Given the description of an element on the screen output the (x, y) to click on. 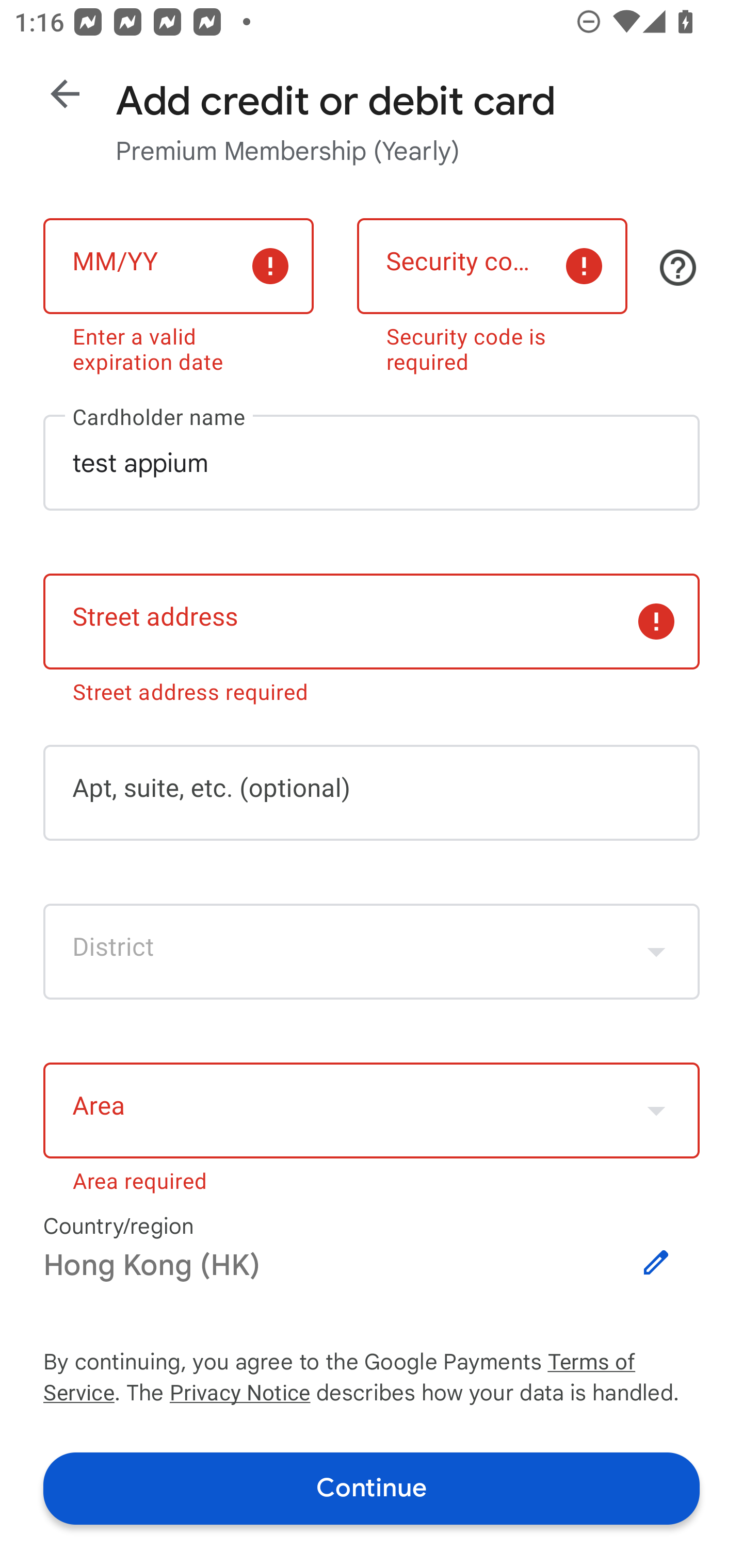
Back (64, 93)
Security code Error Security code is required (492, 292)
Expiration date, 2 digit month, 2 digit year (178, 265)
Security code (492, 265)
Security code help (677, 268)
test appium (371, 462)
Street address (371, 621)
Apt, suite, etc. (optional) (371, 792)
District (371, 951)
Show dropdown menu (655, 951)
Area (371, 1110)
Show dropdown menu (655, 1110)
country edit button (655, 1262)
Terms of Service (623, 1362)
Privacy Notice (239, 1394)
Continue (371, 1487)
